Given the description of an element on the screen output the (x, y) to click on. 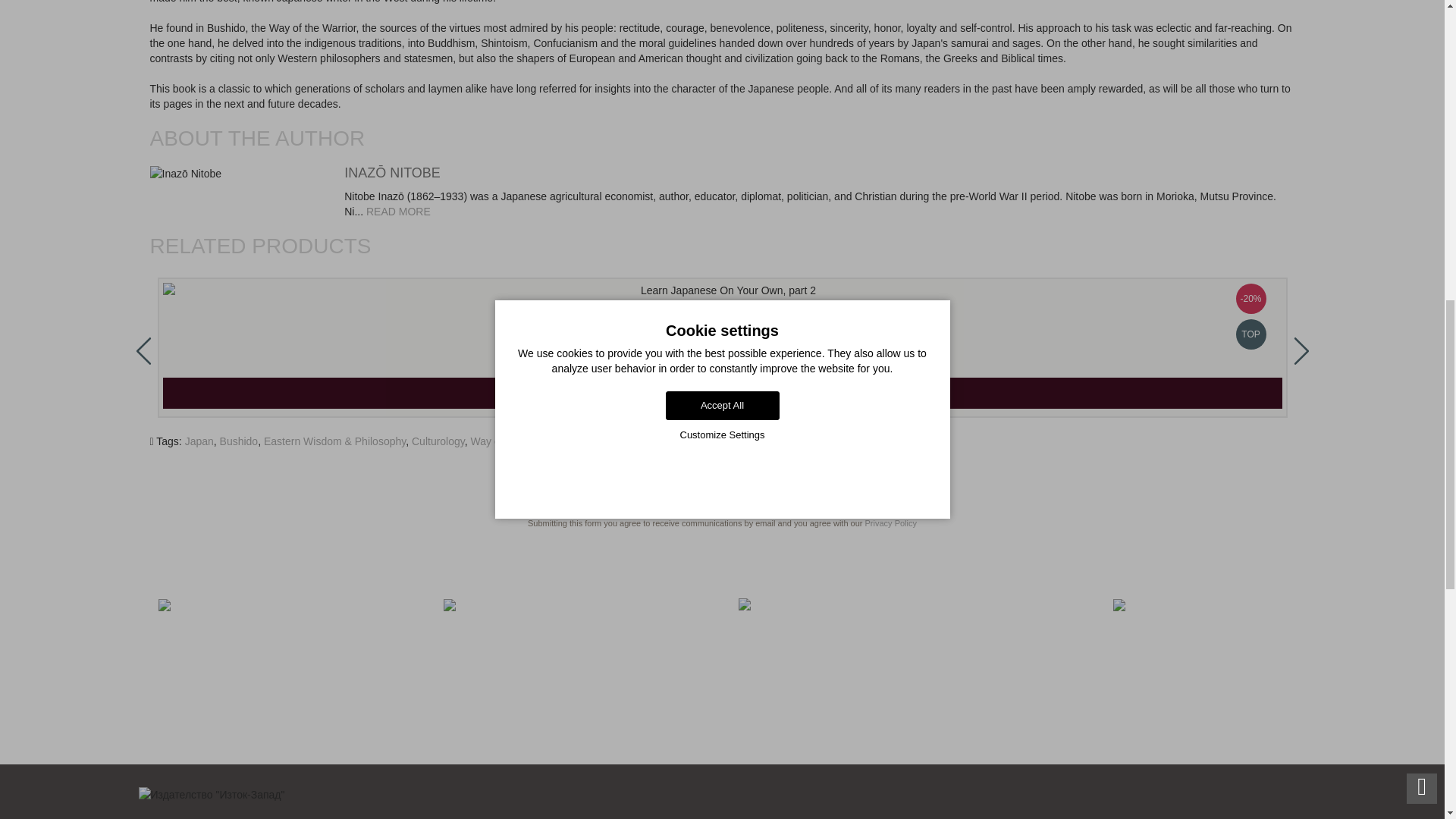
Learn Japanese On Your Own, part 2 (721, 290)
